Given the description of an element on the screen output the (x, y) to click on. 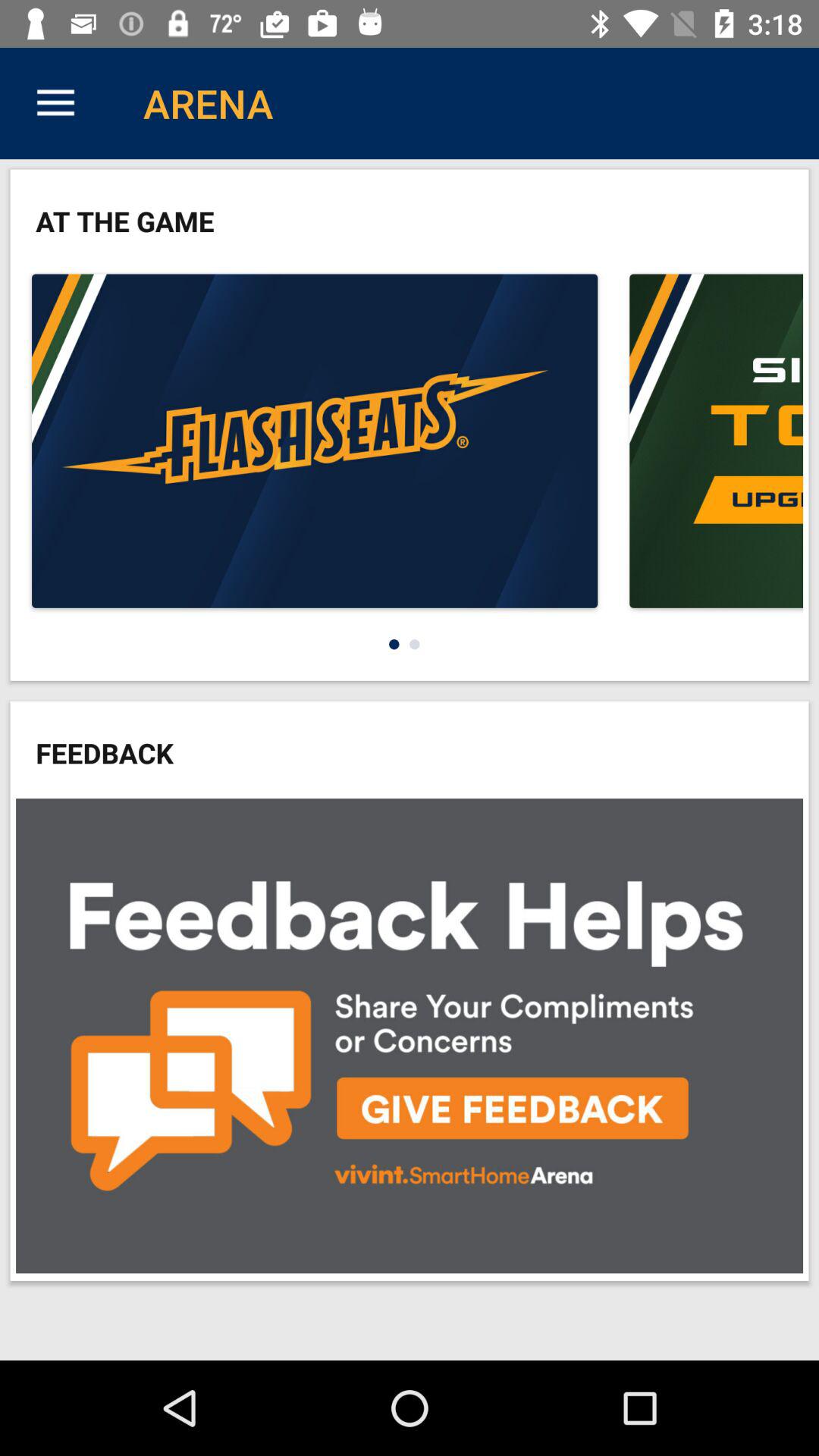
turn off icon next to arena icon (55, 103)
